Given the description of an element on the screen output the (x, y) to click on. 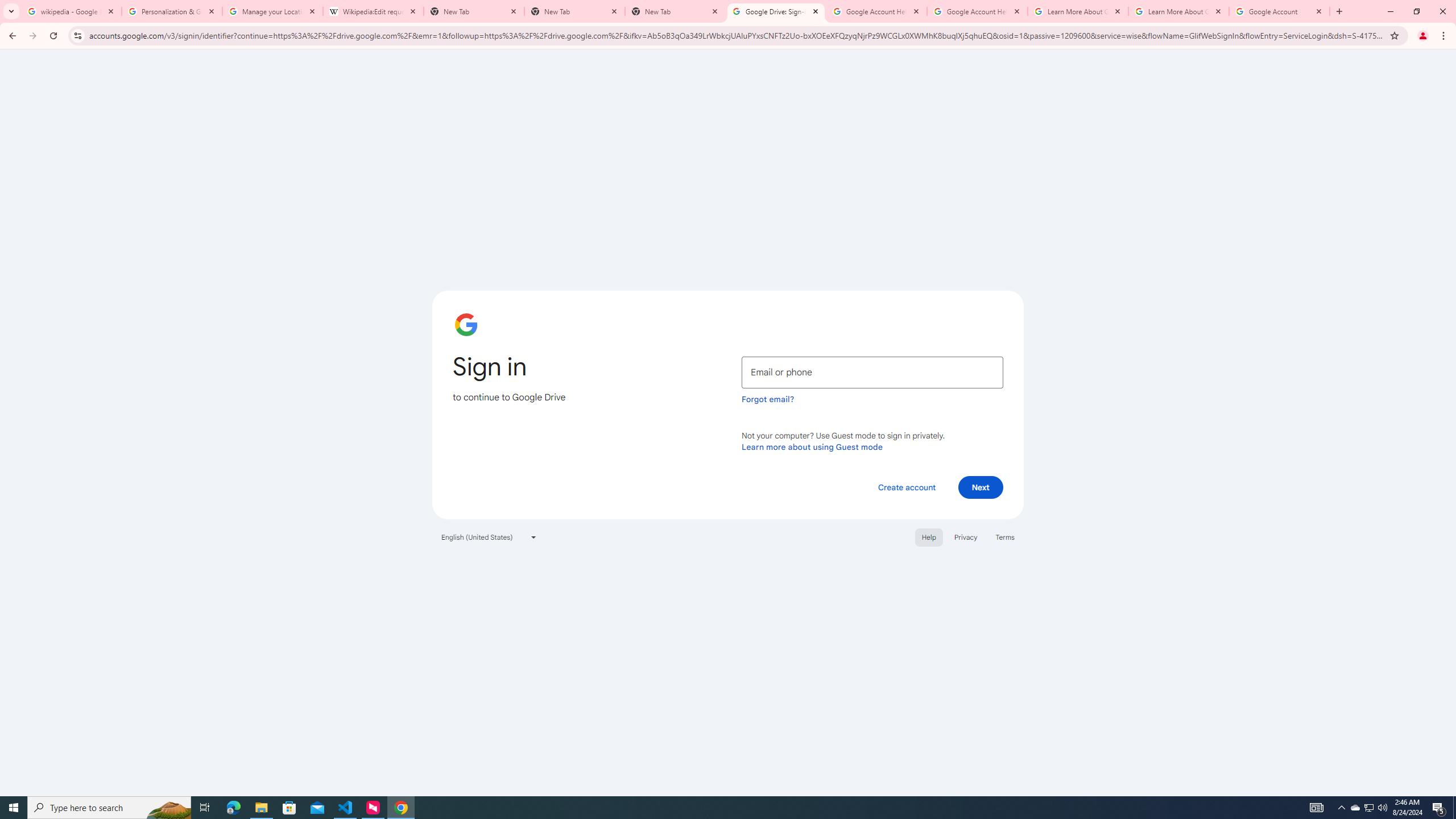
Forgot email? (767, 398)
Google Drive: Sign-in (775, 11)
Google Account (1279, 11)
Create account (905, 486)
